Given the description of an element on the screen output the (x, y) to click on. 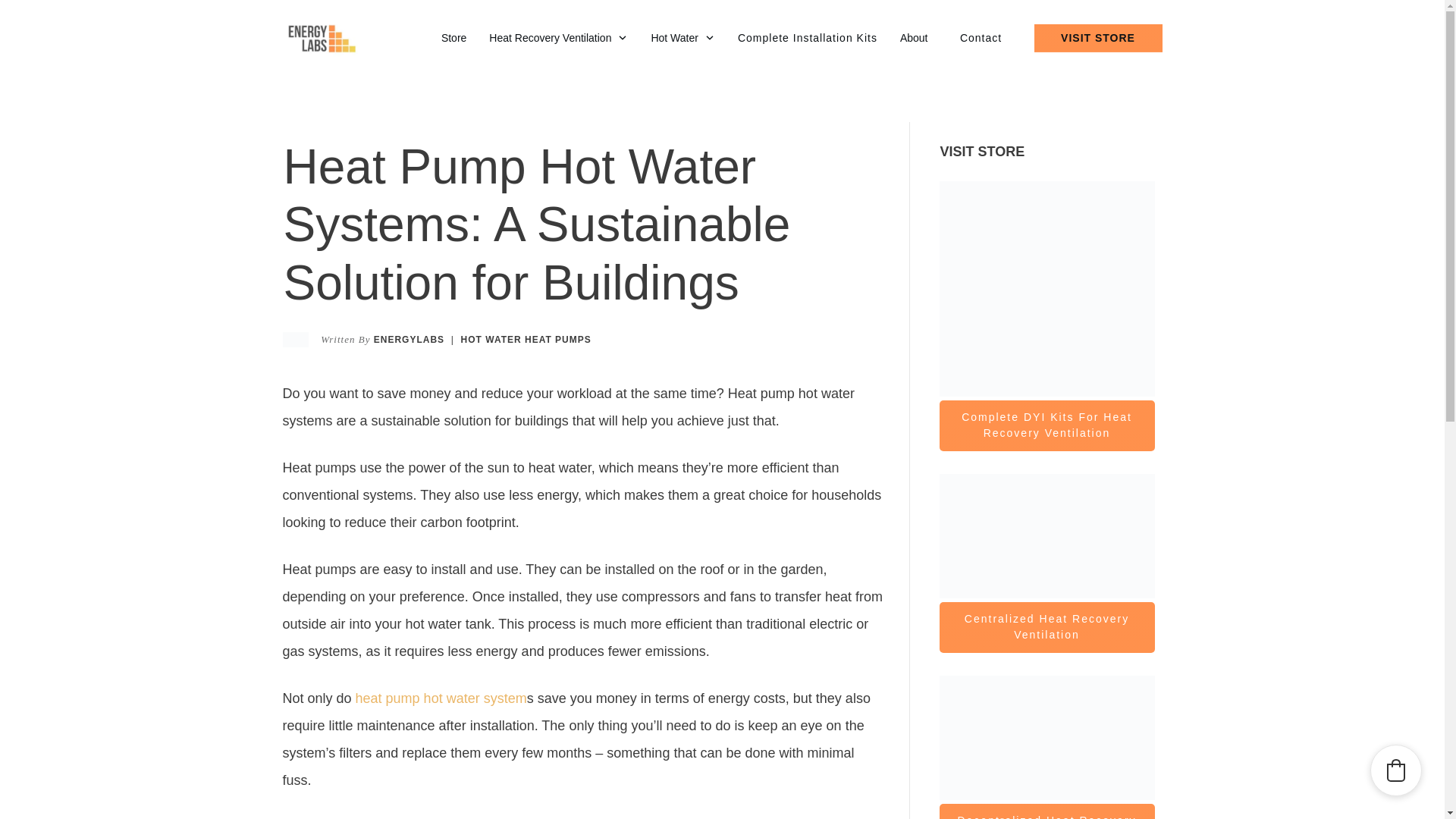
energylabs-1987956286 (1046, 737)
Text Only 02 (294, 339)
Hot Water (682, 37)
Store (453, 37)
energylabs-heat-recovery-ventilation-decentralised-D2-HRV (1046, 288)
HOT WATER HEAT PUMPS (526, 339)
Complete DYI Kits For Heat Recovery Ventilation (1046, 425)
Decentralized Heat Recovery Ventilation (1046, 811)
About (913, 37)
energylabs-1982507127 (1046, 536)
